Given the description of an element on the screen output the (x, y) to click on. 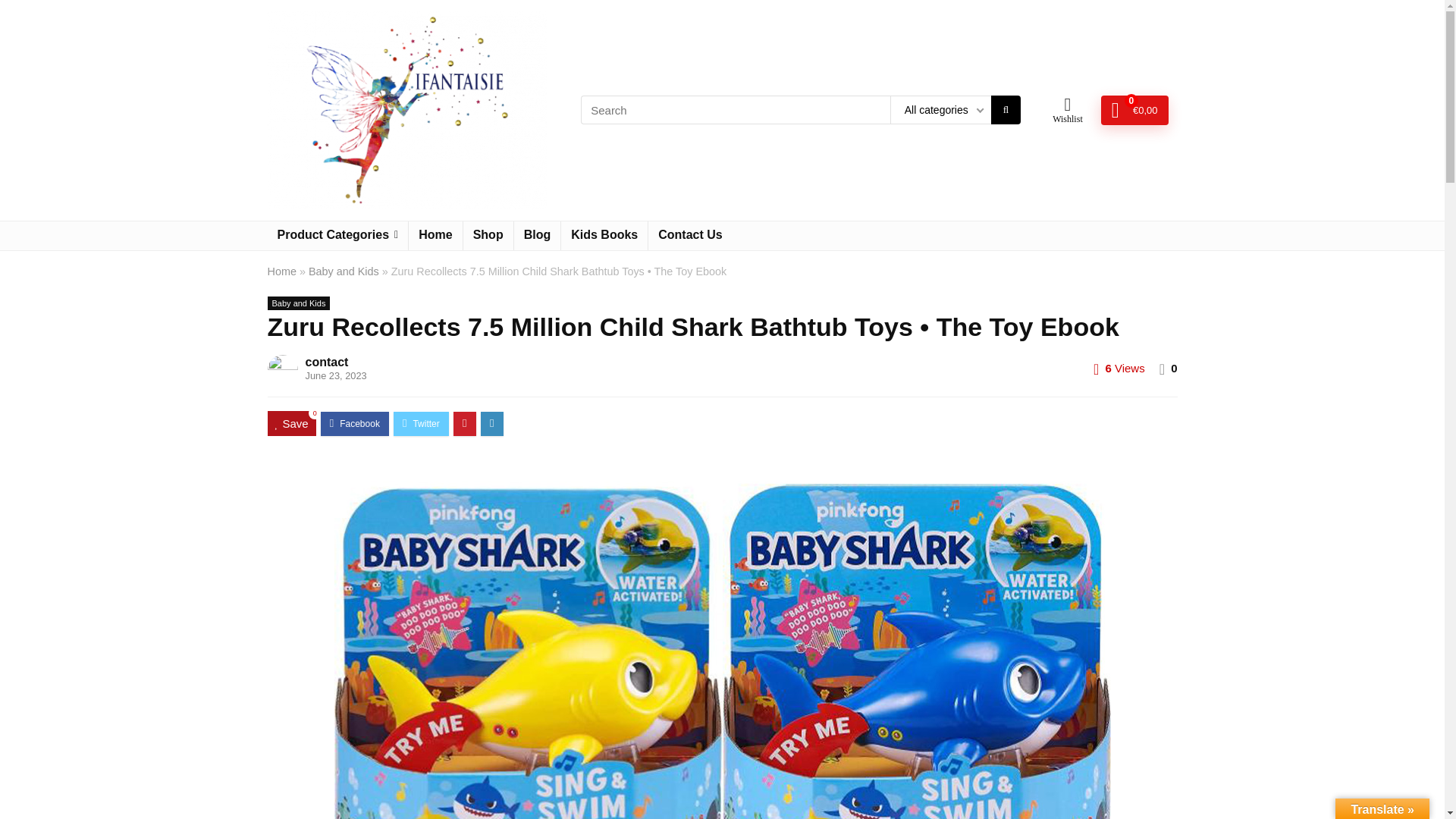
Baby and Kids (298, 303)
Home (280, 271)
Baby and Kids (343, 271)
View all posts in Baby and Kids (298, 303)
Shop (488, 235)
0 (1173, 367)
Home (435, 235)
Kids Books (603, 235)
Blog (536, 235)
contact (325, 361)
Product Categories (336, 235)
Contact Us (689, 235)
